Given the description of an element on the screen output the (x, y) to click on. 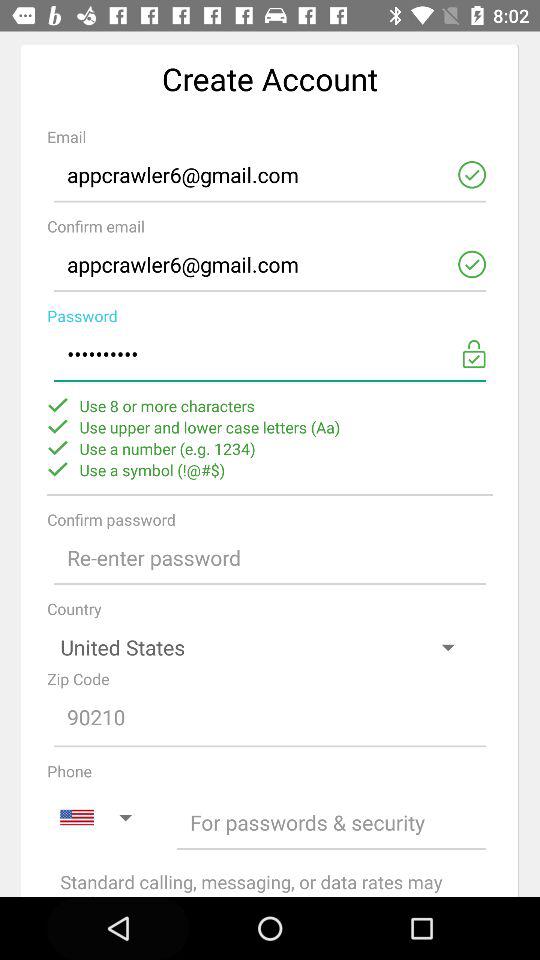
type phone number (331, 822)
